Given the description of an element on the screen output the (x, y) to click on. 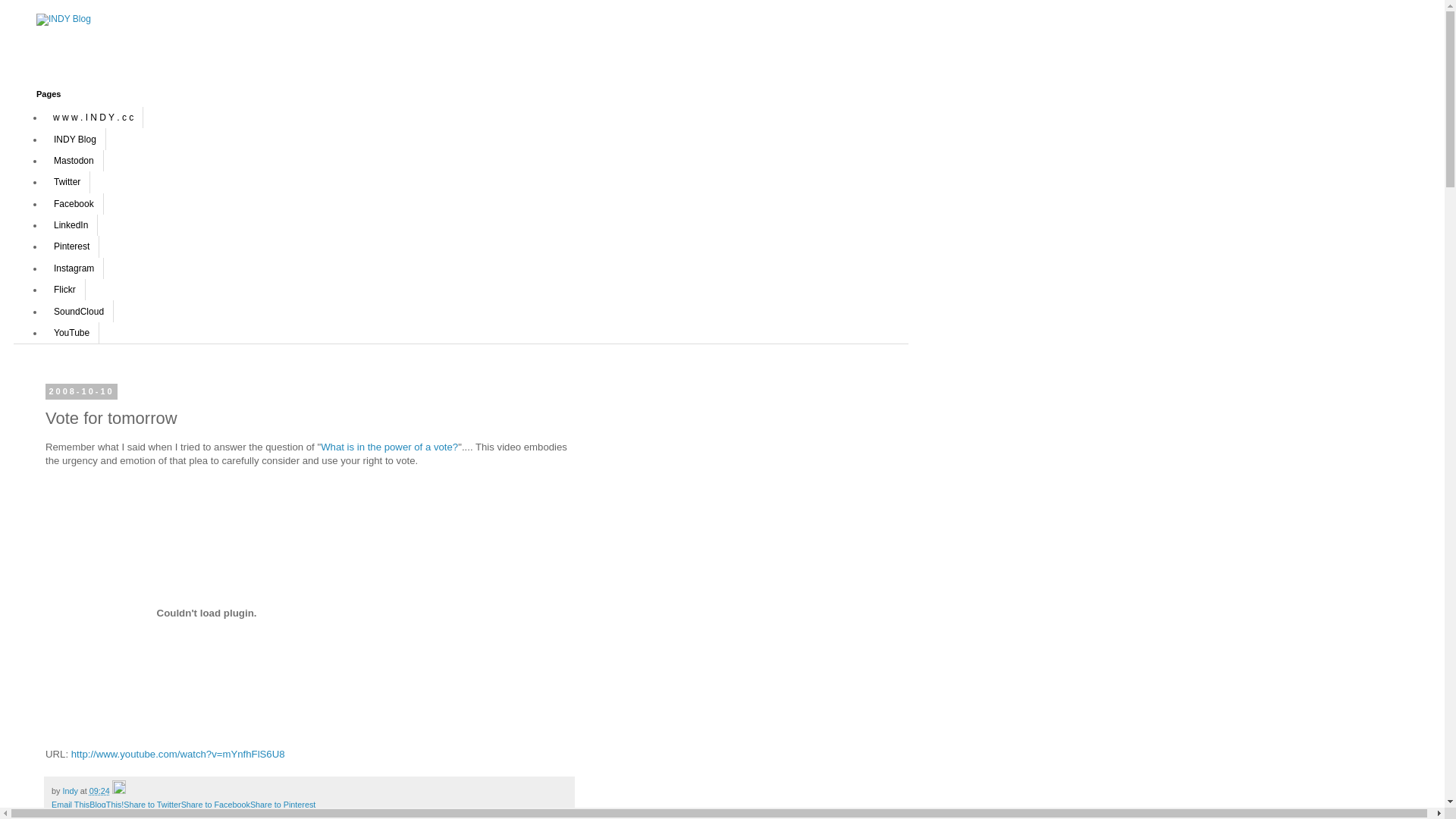
Instagram Element type: text (73, 268)
SoundCloud Element type: text (78, 310)
Twitter Element type: text (66, 181)
Email This Element type: text (70, 804)
YouTube Element type: text (71, 332)
09:24 Element type: text (99, 790)
Edit Post Element type: hover (118, 790)
Facebook Element type: text (73, 202)
Indy Element type: text (70, 790)
Flickr Element type: text (64, 289)
w w w . I N D Y . c c Element type: text (93, 117)
What is in the power of a vote? Element type: text (389, 446)
Share to Pinterest Element type: text (282, 804)
LinkedIn Element type: text (70, 224)
http://www.youtube.com/watch?v=mYnfhFlS6U8 Element type: text (178, 753)
BlogThis! Element type: text (106, 804)
Mastodon Element type: text (73, 160)
Share to Twitter Element type: text (151, 804)
Share to Facebook Element type: text (215, 804)
INDY Blog Element type: text (74, 138)
Pinterest Element type: text (71, 246)
